Given the description of an element on the screen output the (x, y) to click on. 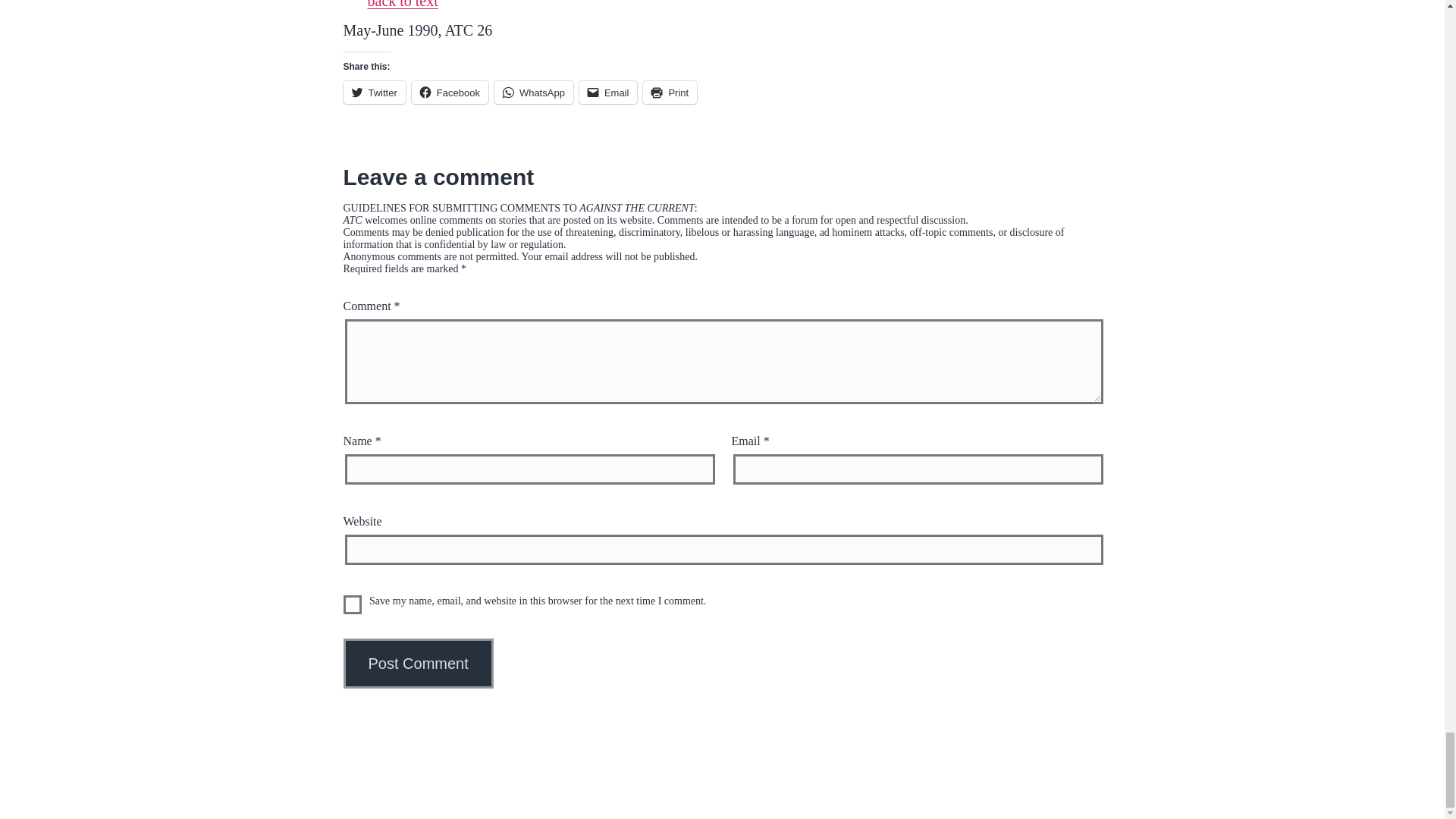
Click to share on Twitter (373, 92)
Click to print (670, 92)
Click to share on WhatsApp (534, 92)
yes (351, 604)
Post Comment (417, 663)
Click to email a link to a friend (608, 92)
Click to share on Facebook (449, 92)
